Given the description of an element on the screen output the (x, y) to click on. 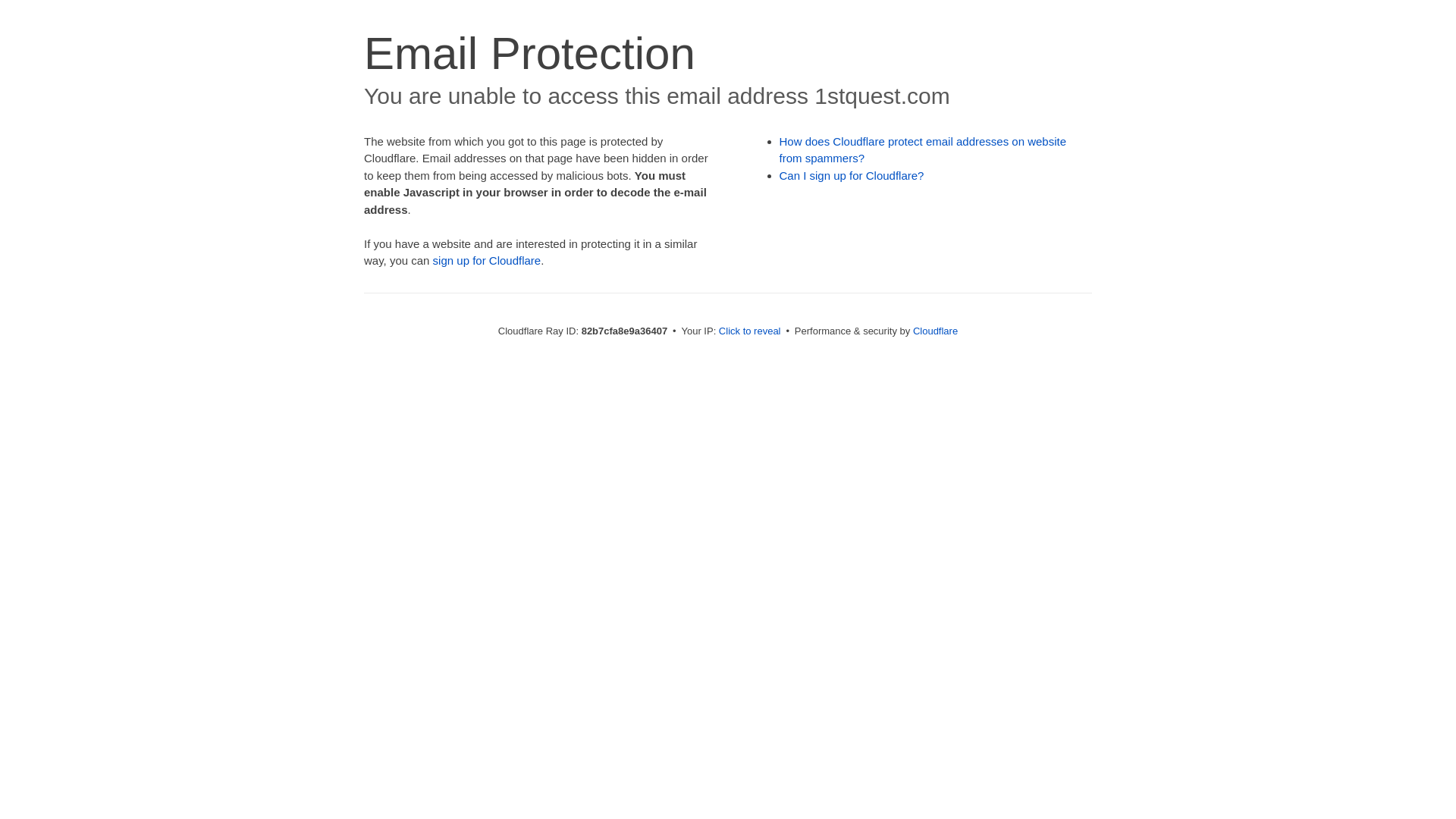
Click to reveal Element type: text (749, 330)
sign up for Cloudflare Element type: text (487, 260)
Can I sign up for Cloudflare? Element type: text (851, 175)
Cloudflare Element type: text (935, 330)
